Given the description of an element on the screen output the (x, y) to click on. 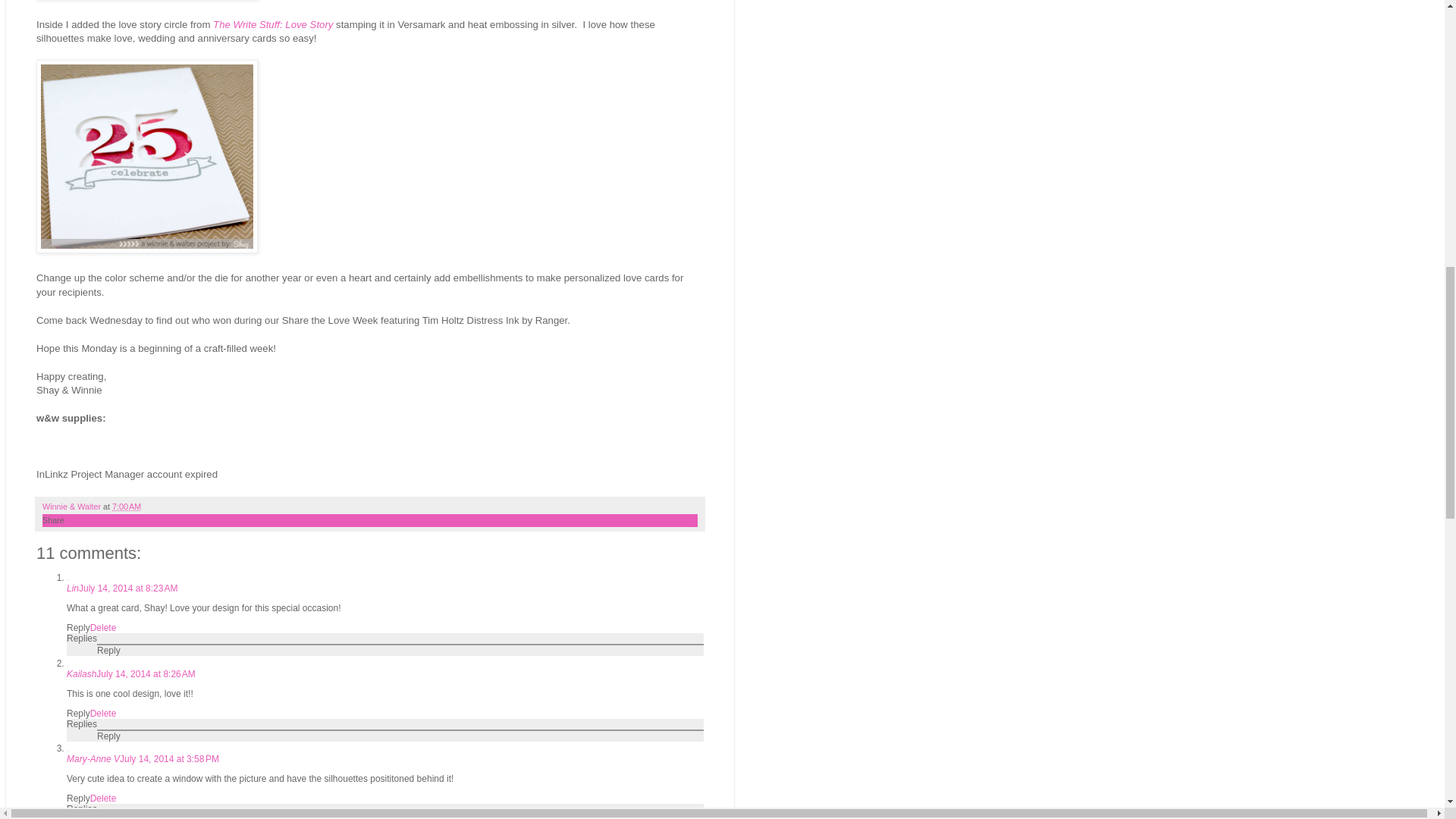
Replies (81, 808)
Reply (108, 817)
Lin (72, 588)
Reply (78, 713)
Delete (103, 713)
Delete (103, 798)
The Write Stuff: Love Story (272, 24)
Reply (108, 650)
permanent link (126, 506)
Mary-Anne V (92, 758)
Reply (78, 627)
Replies (81, 638)
Delete (103, 627)
